Given the description of an element on the screen output the (x, y) to click on. 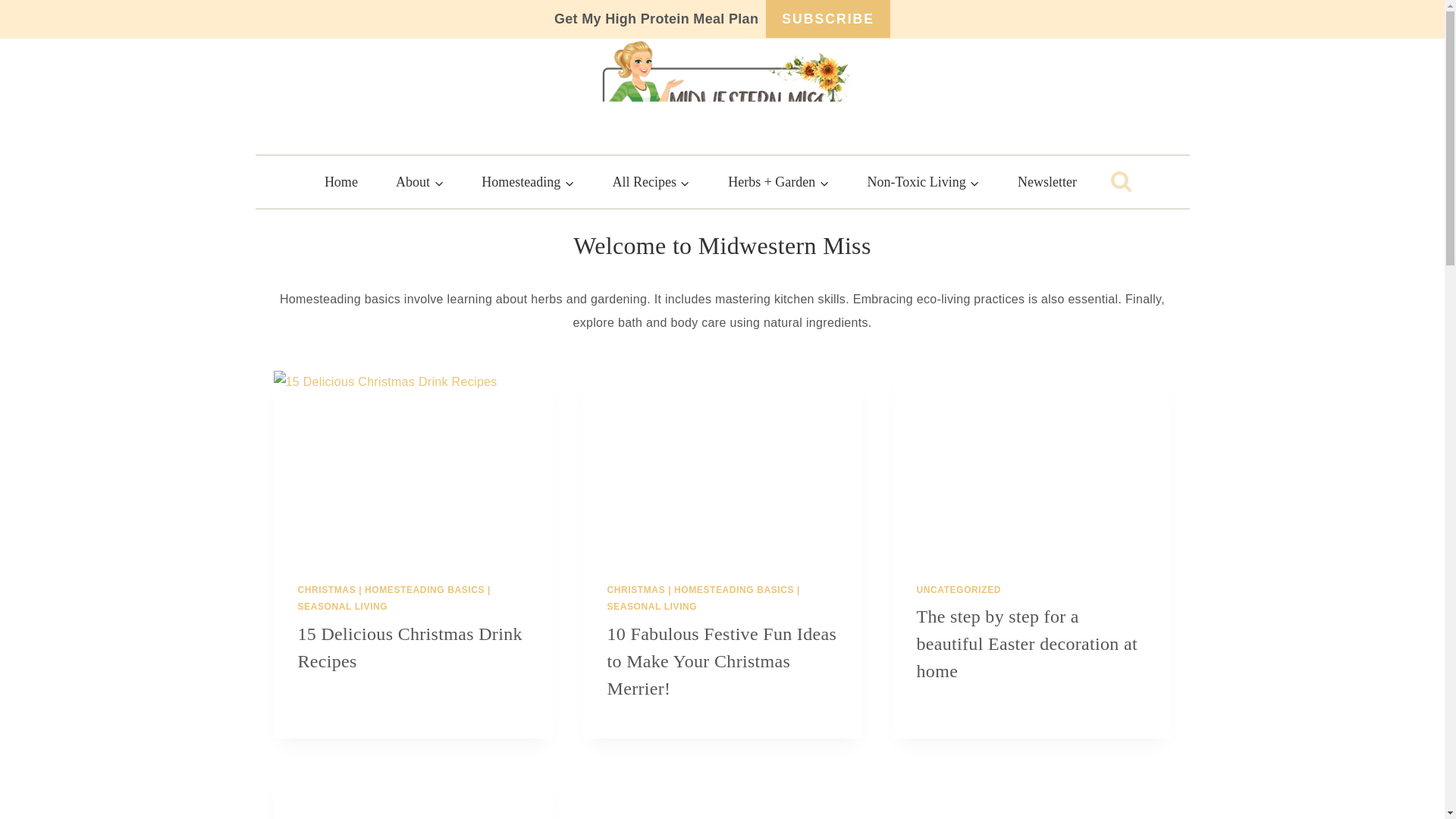
Homesteading (527, 181)
All Recipes (650, 181)
About (420, 181)
Home (341, 181)
SUBSCRIBE (827, 18)
